Given the description of an element on the screen output the (x, y) to click on. 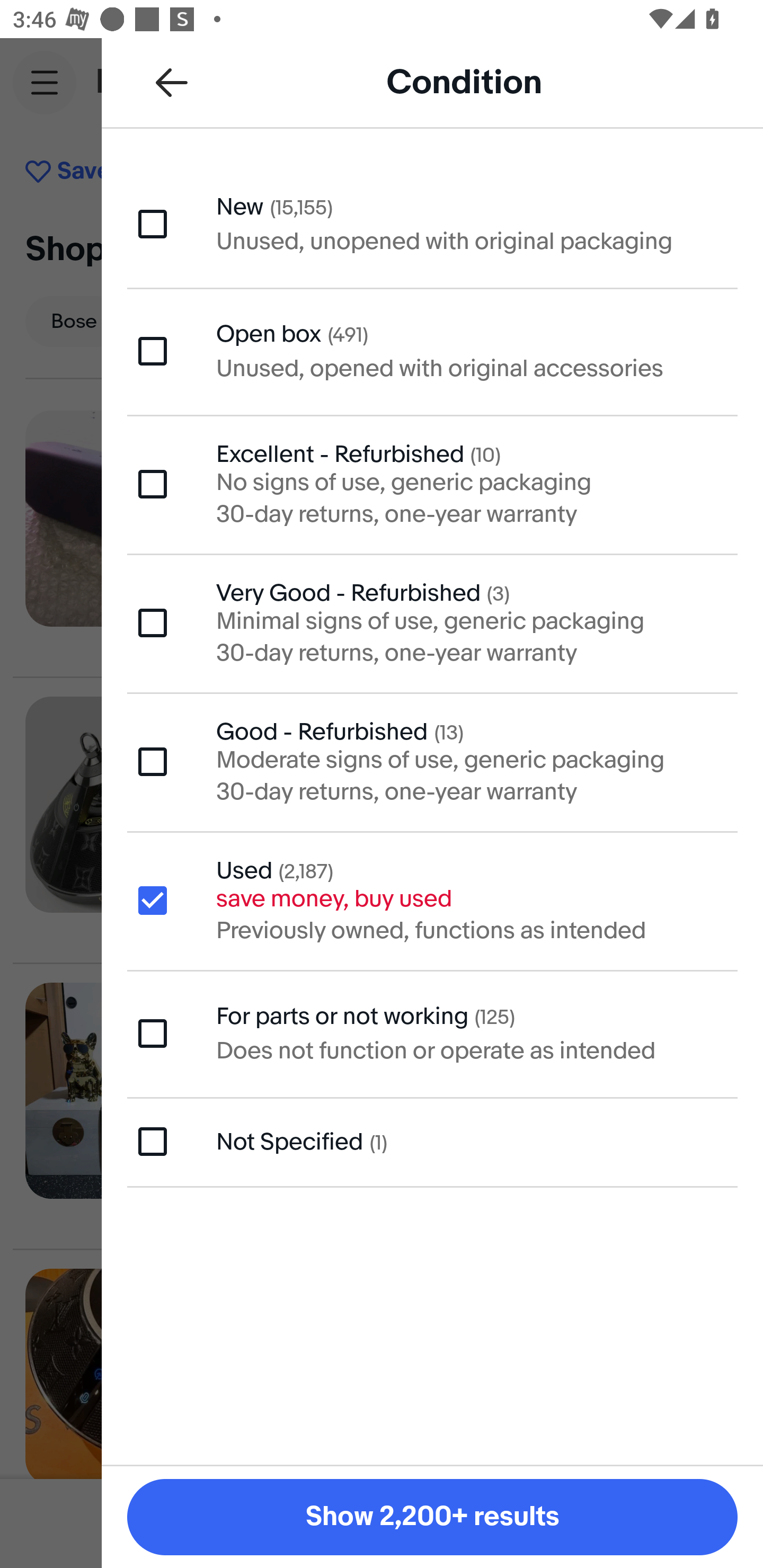
Back to all refinements (171, 81)
Not Specified (1) (432, 1141)
Show 2,200+ results (432, 1516)
